Given the description of an element on the screen output the (x, y) to click on. 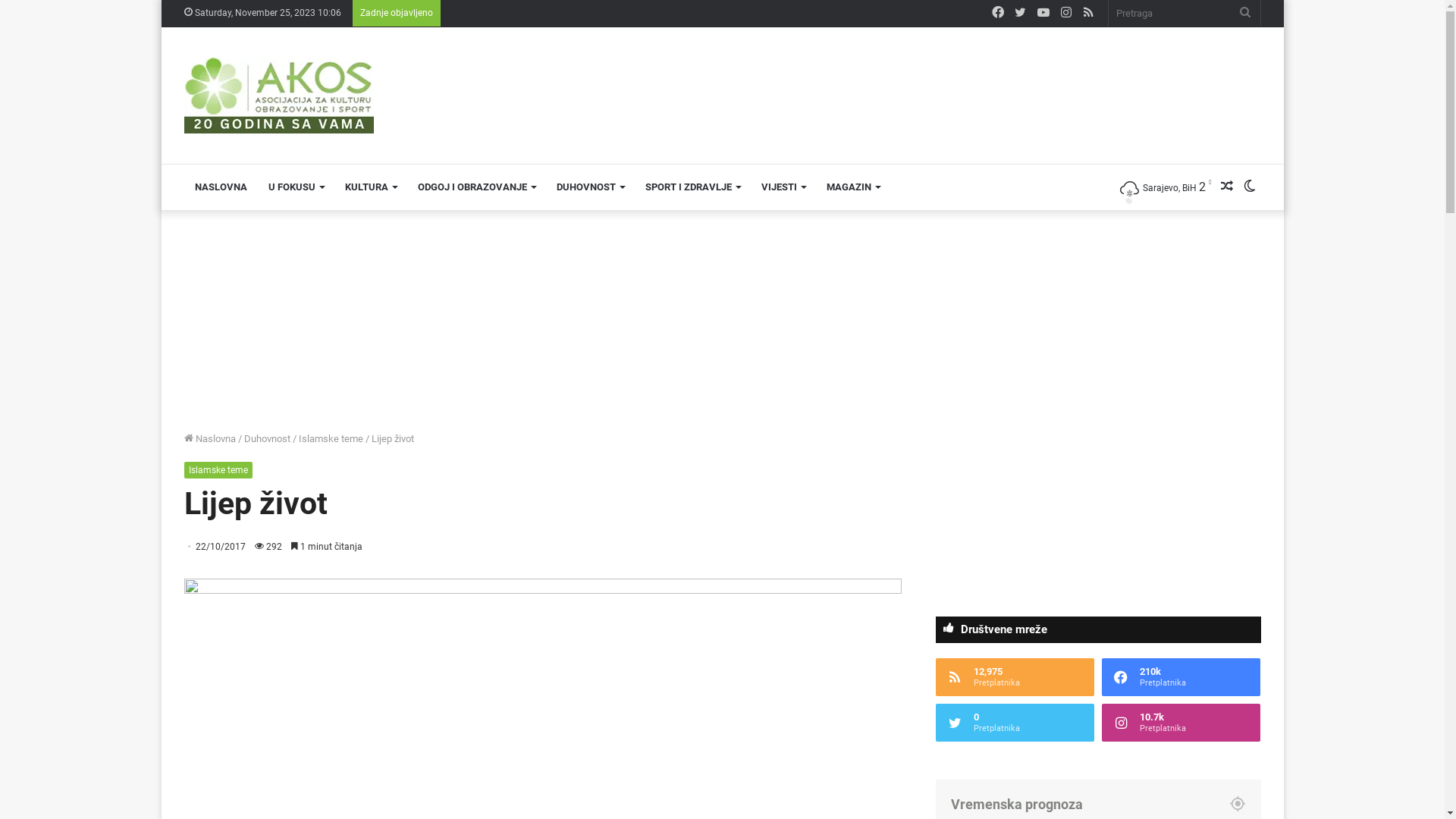
0
Pretplatnika Element type: text (1014, 722)
Pretraga Element type: hover (1184, 13)
KULTURA Element type: text (369, 187)
Islamske teme Element type: text (330, 438)
VIJESTI Element type: text (782, 187)
210k
Pretplatnika Element type: text (1180, 677)
12,975
Pretplatnika Element type: text (1014, 677)
AKOS Element type: hover (278, 95)
DUHOVNOST Element type: text (590, 187)
Islamske teme Element type: text (217, 469)
ODGOJ I OBRAZOVANJE Element type: text (475, 187)
10.7k
Pretplatnika Element type: text (1180, 722)
SPORT I ZDRAVLJE Element type: text (691, 187)
NASLOVNA Element type: text (220, 187)
Naslovna Element type: text (209, 438)
U FOKUSU Element type: text (295, 187)
Duhovnost Element type: text (267, 438)
Switch skin Element type: hover (1248, 187)
MAGAZIN Element type: text (852, 187)
